Given the description of an element on the screen output the (x, y) to click on. 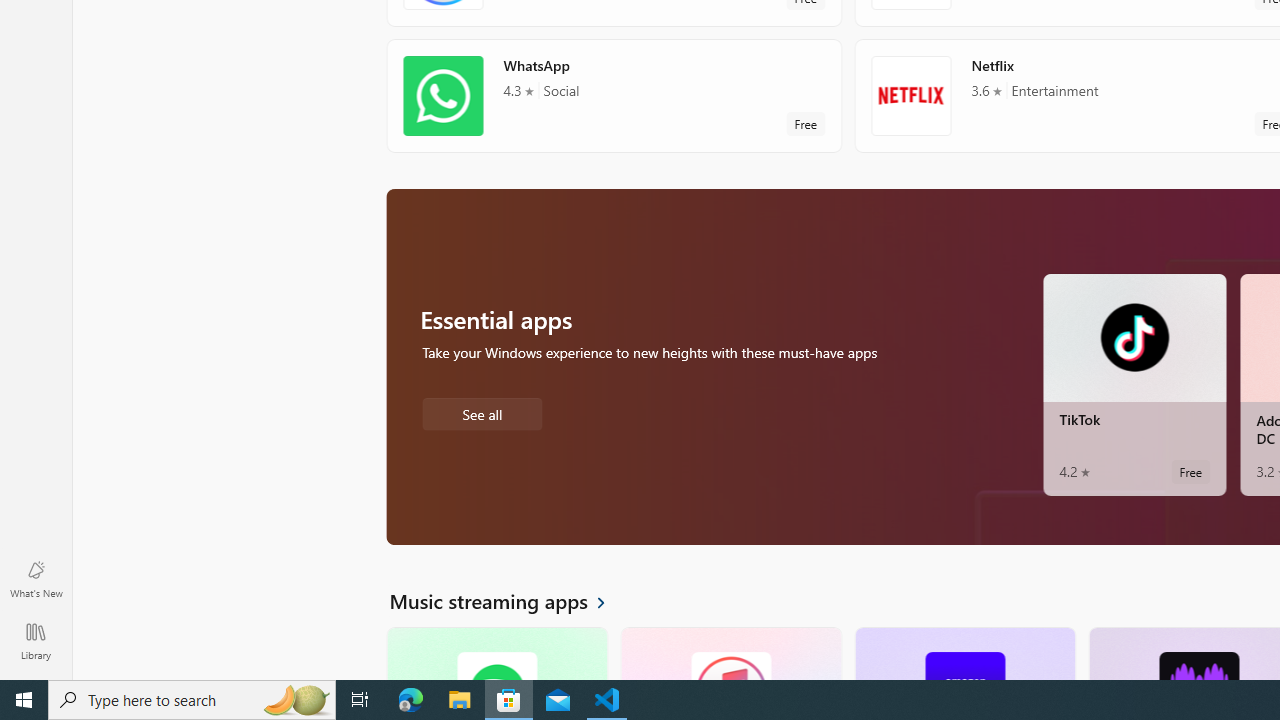
WhatsApp. Average rating of 4.3 out of five stars. Free   (614, 95)
iTunes. Average rating of 2.5 out of five stars. Free   (730, 653)
TikTok. Average rating of 4.2 out of five stars. Free   (1134, 384)
See all  Music streaming apps (509, 600)
See all  Essential apps (481, 412)
